Given the description of an element on the screen output the (x, y) to click on. 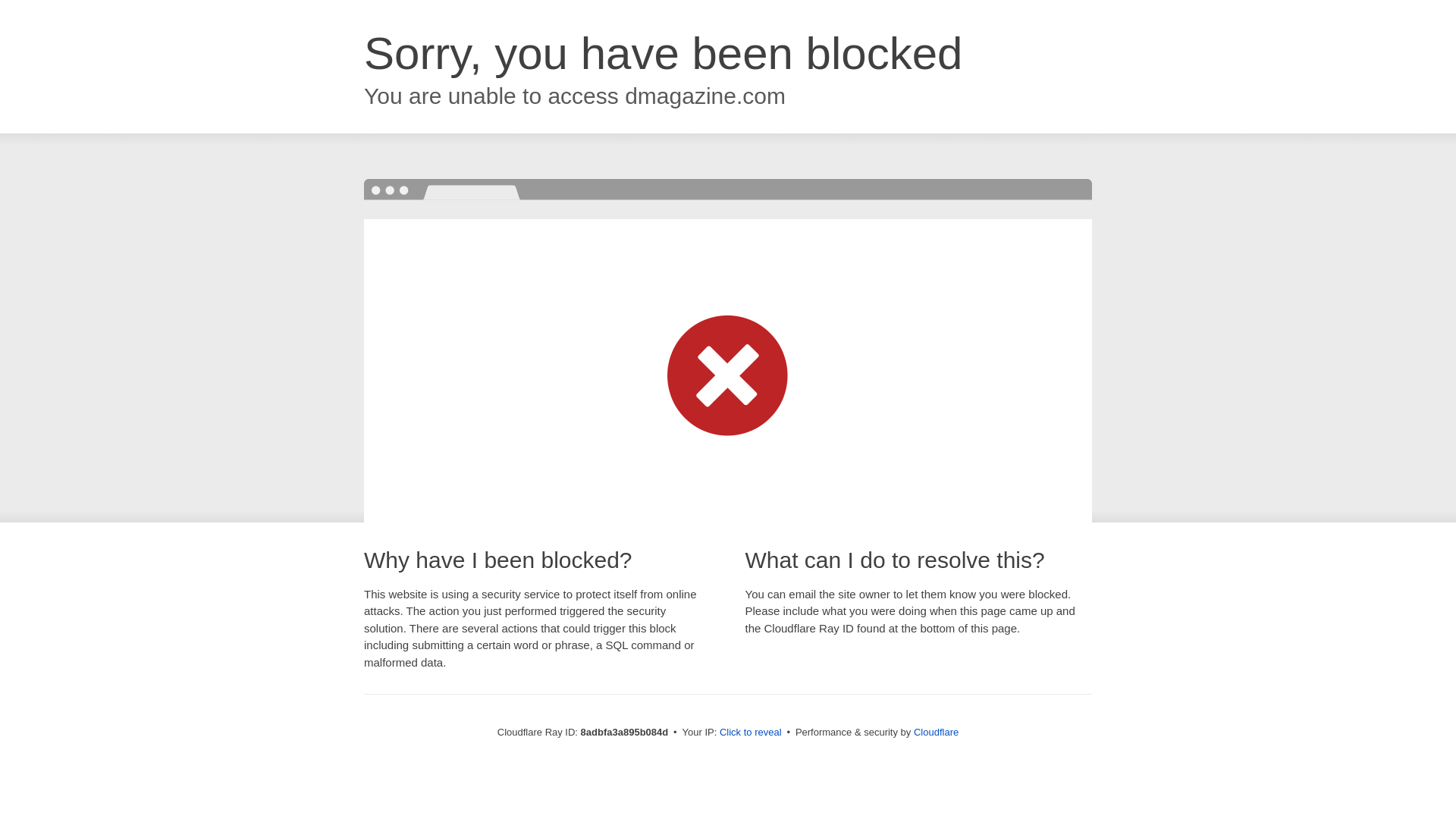
Cloudflare (936, 731)
Click to reveal (750, 732)
